Given the description of an element on the screen output the (x, y) to click on. 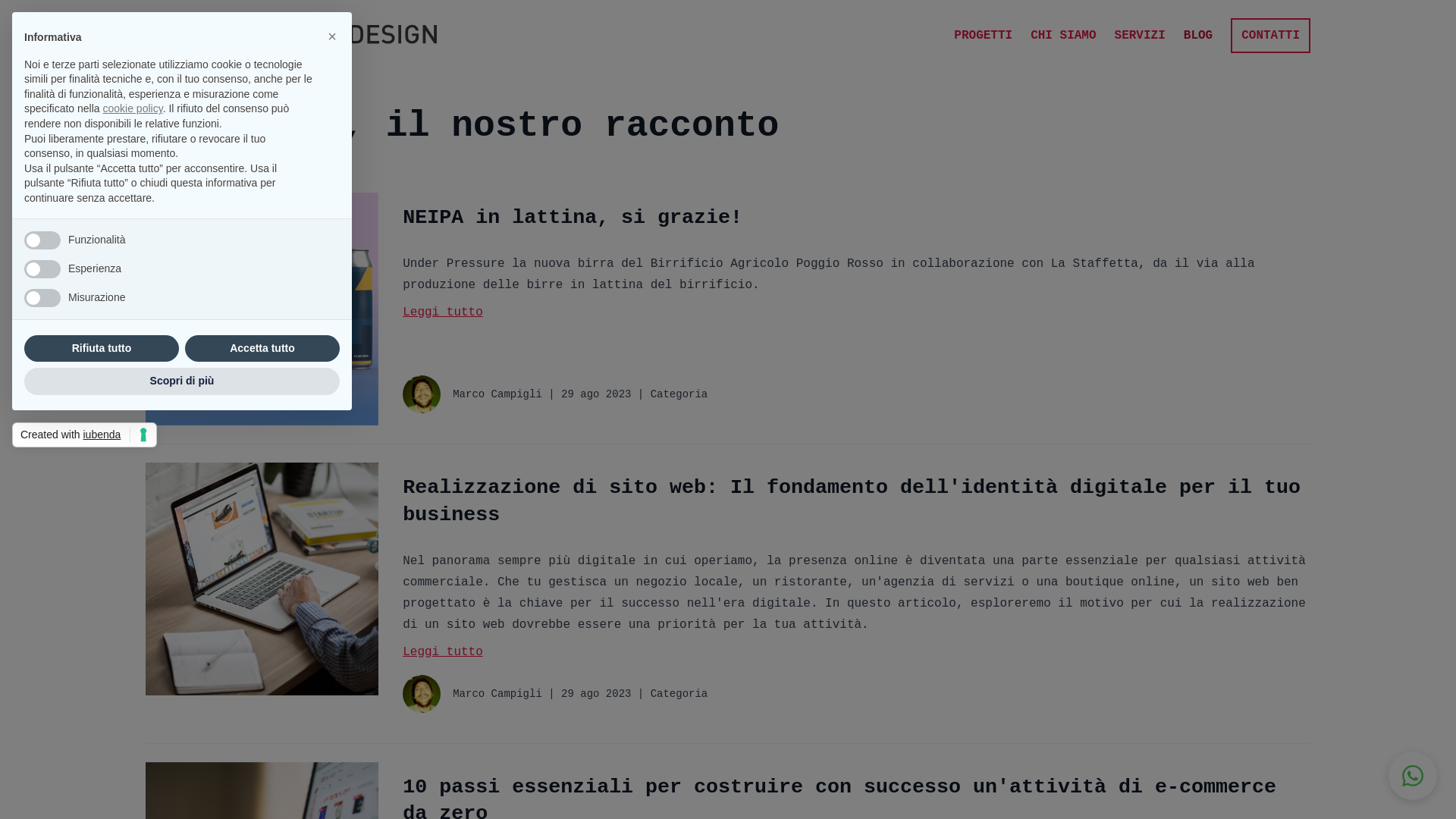
Leggi tutto Element type: text (856, 651)
Marco Campigli art director e founder 3rd Floor Design Element type: hover (421, 693)
CONTATTI Element type: text (1270, 35)
Created with iubenda Element type: text (84, 435)
cookie policy Element type: text (133, 108)
PROGETTI Element type: text (982, 35)
CHI SIAMO Element type: text (1062, 35)
BLOG Element type: text (1197, 35)
Marco Campigli art director e founder 3rd Floor Design Element type: hover (421, 394)
Realizzazione sito web Element type: hover (261, 578)
Leggi tutto Element type: text (856, 312)
Design packaging per lattine di birra Element type: hover (261, 308)
Rifiuta tutto Element type: text (101, 348)
SERVIZI Element type: text (1139, 35)
Accetta tutto Element type: text (262, 348)
